Given the description of an element on the screen output the (x, y) to click on. 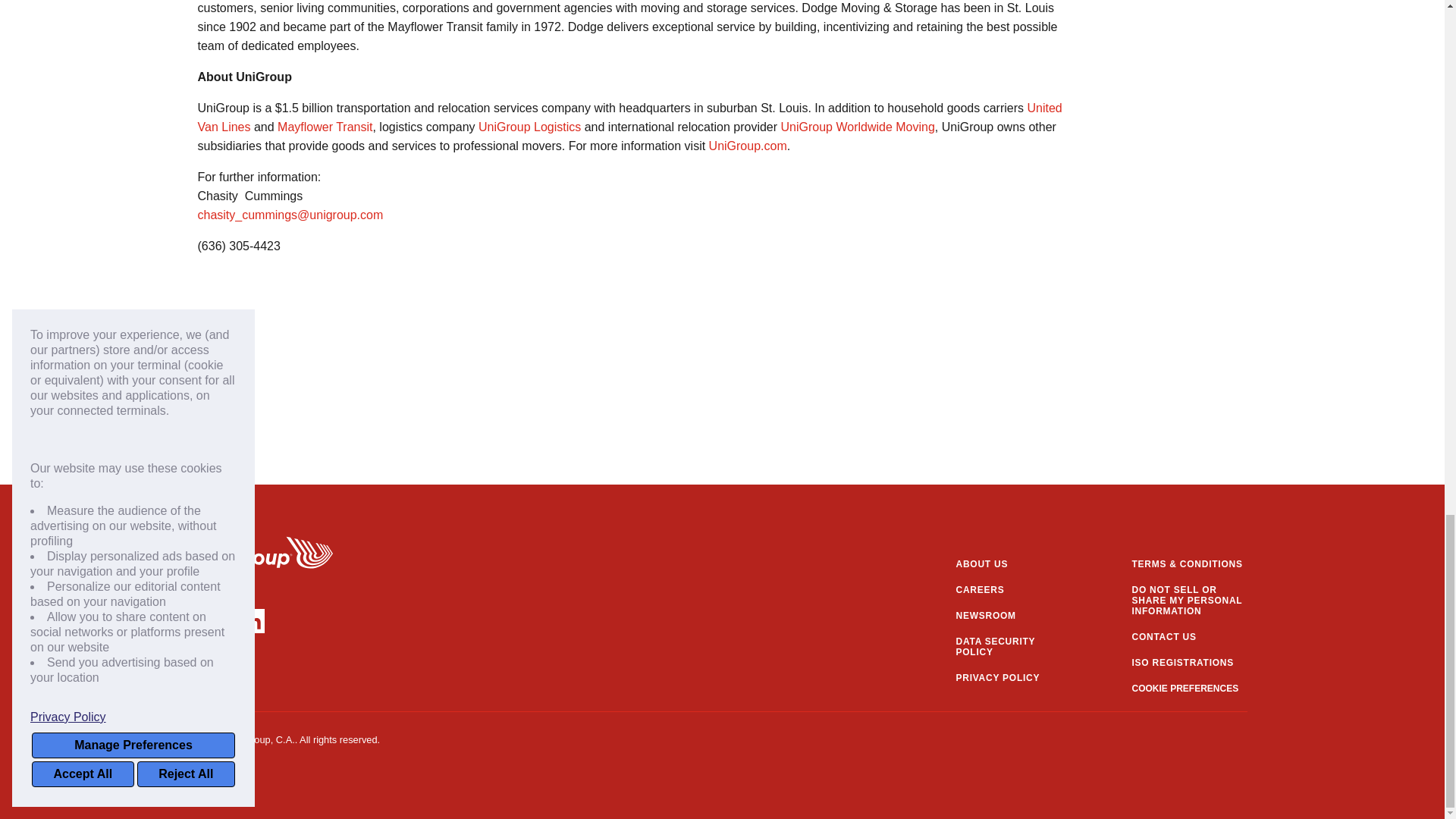
United Van Lines (628, 117)
UniGroup Worldwide Moving (857, 126)
UniGroup Logistics (529, 126)
NEWSROOM (1012, 615)
Mayflower Transit (325, 126)
CAREERS (1012, 589)
UniGroup.com (748, 145)
DATA SECURITY POLICY (1012, 646)
PRIVACY POLICY (1012, 677)
ABOUT US (1012, 563)
